Given the description of an element on the screen output the (x, y) to click on. 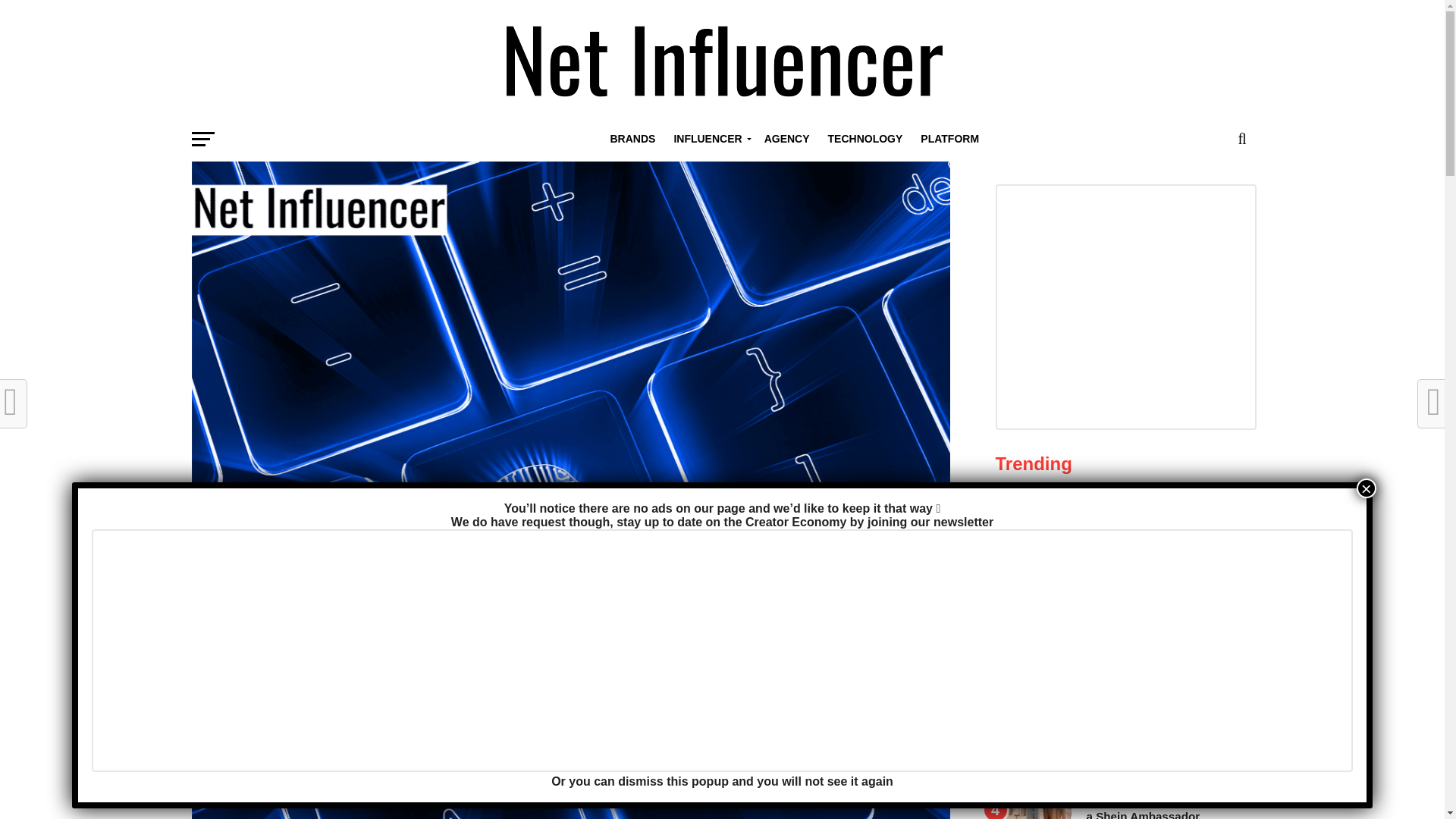
PLATFORM (949, 138)
AGENCY (786, 138)
BRANDS (631, 138)
TECHNOLOGY (865, 138)
INFLUENCER (708, 138)
